Given the description of an element on the screen output the (x, y) to click on. 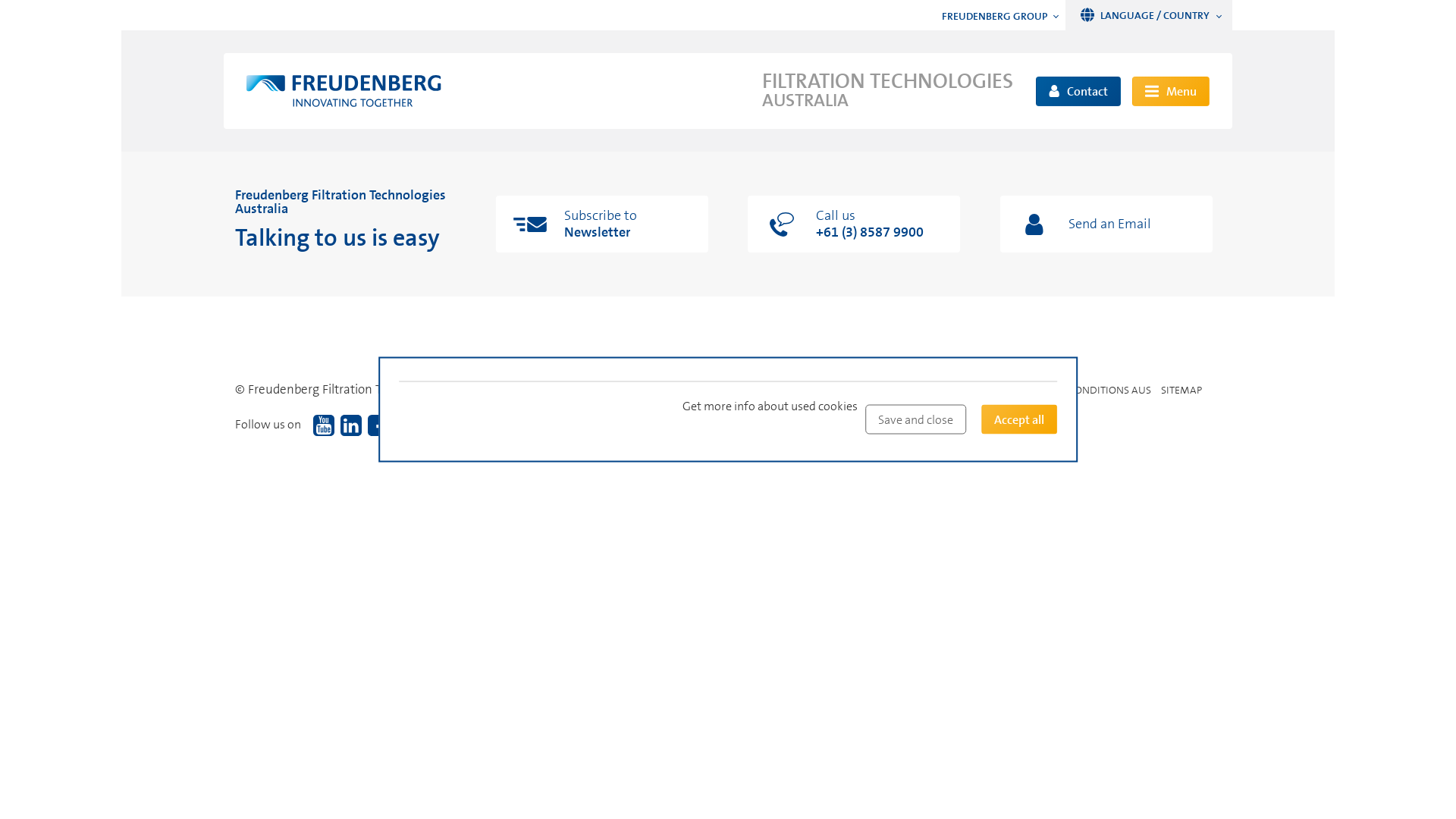
Accept all Element type: text (1019, 419)
LANGUAGE / COUNTRY Element type: text (1148, 15)
Contact Element type: text (1077, 90)
Send an Email Element type: text (1106, 223)
Twitter Element type: hover (405, 425)
Facebook Element type: hover (378, 425)
YouTube Element type: hover (323, 425)
Subscribe to
Newsletter Element type: text (601, 223)
TERMS & CONDITIONS AUS Element type: text (1087, 389)
Menu Element type: text (1170, 90)
LinkedIn Element type: hover (350, 425)
FREUDENBERG GROUP Element type: text (1003, 15)
SITEMAP Element type: text (1181, 389)
Save and close Element type: text (915, 419)
HOME Element type: text (700, 389)
TERMS & CONDITIONS GLOBAL Element type: text (941, 389)
LEGAL NOTE Element type: text (753, 389)
PRIVACY NOTE Element type: text (825, 389)
